Given the description of an element on the screen output the (x, y) to click on. 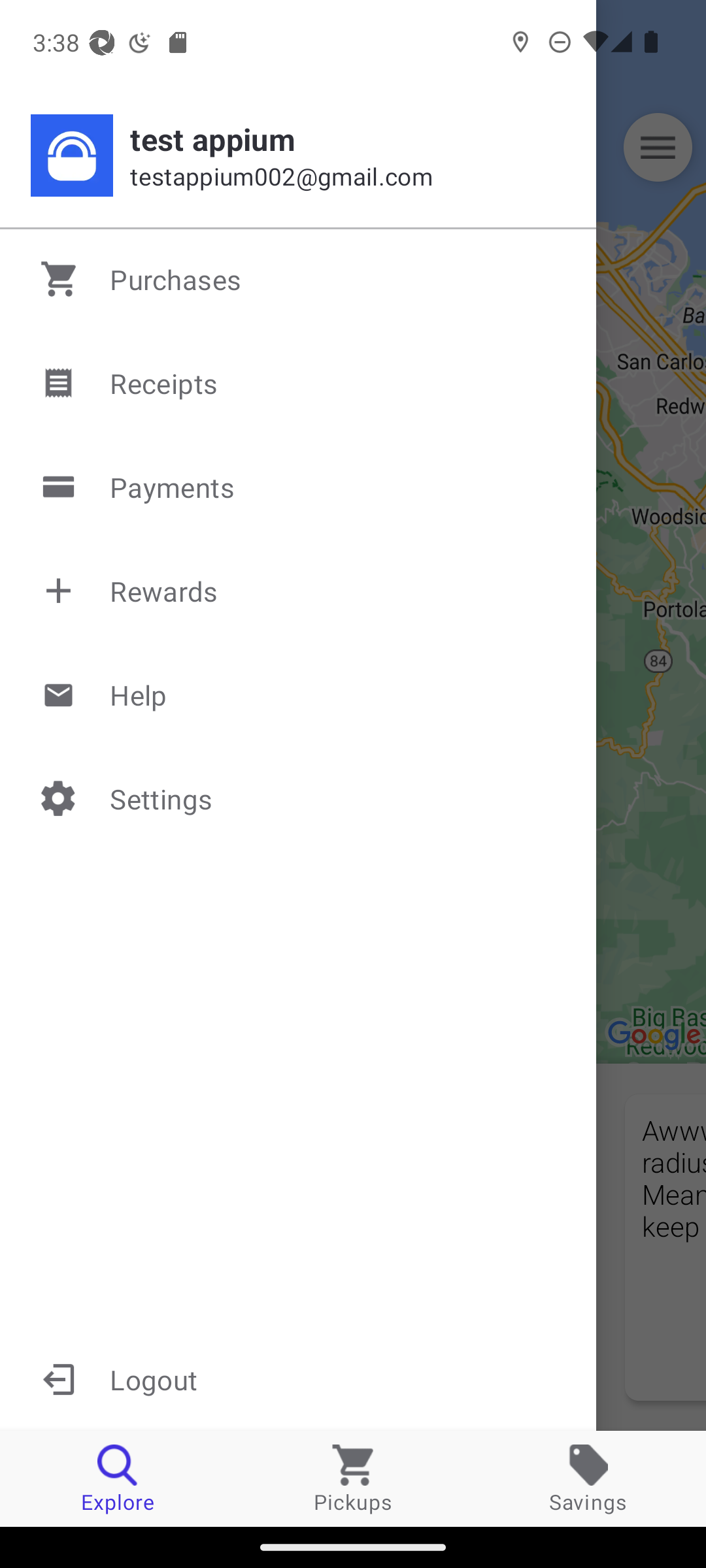
Pickups (352, 1478)
Savings (588, 1478)
